Given the description of an element on the screen output the (x, y) to click on. 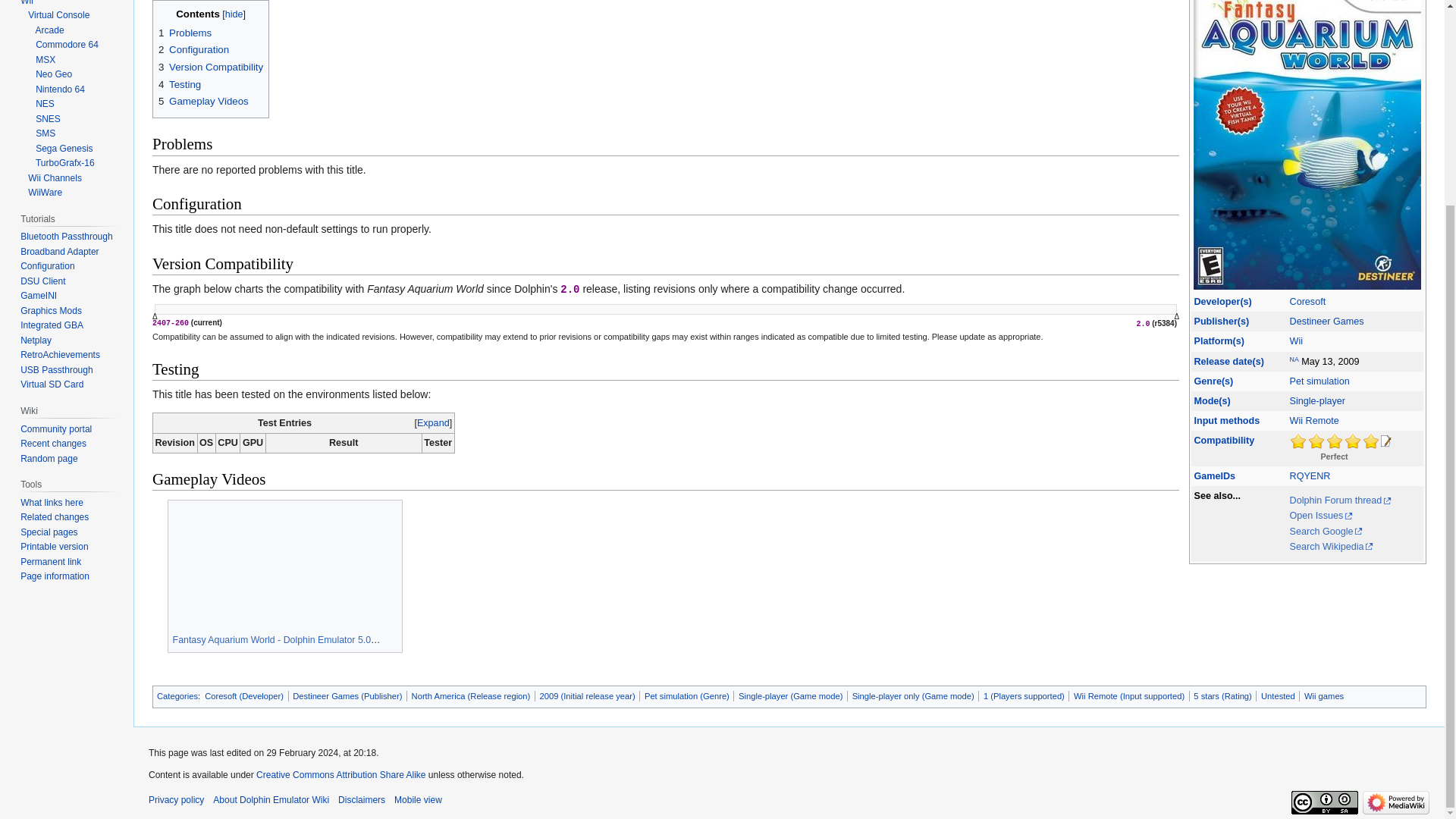
1 Problems (184, 32)
Category:Publishers (1221, 321)
GameIDs (1213, 475)
Wii Remote (1314, 420)
Search Google (1326, 531)
Category:Initial release year (1228, 360)
Destineer Games (1327, 321)
Category:Platforms (1218, 340)
3 Version Compatibility (210, 66)
Expand (432, 422)
